Given the description of an element on the screen output the (x, y) to click on. 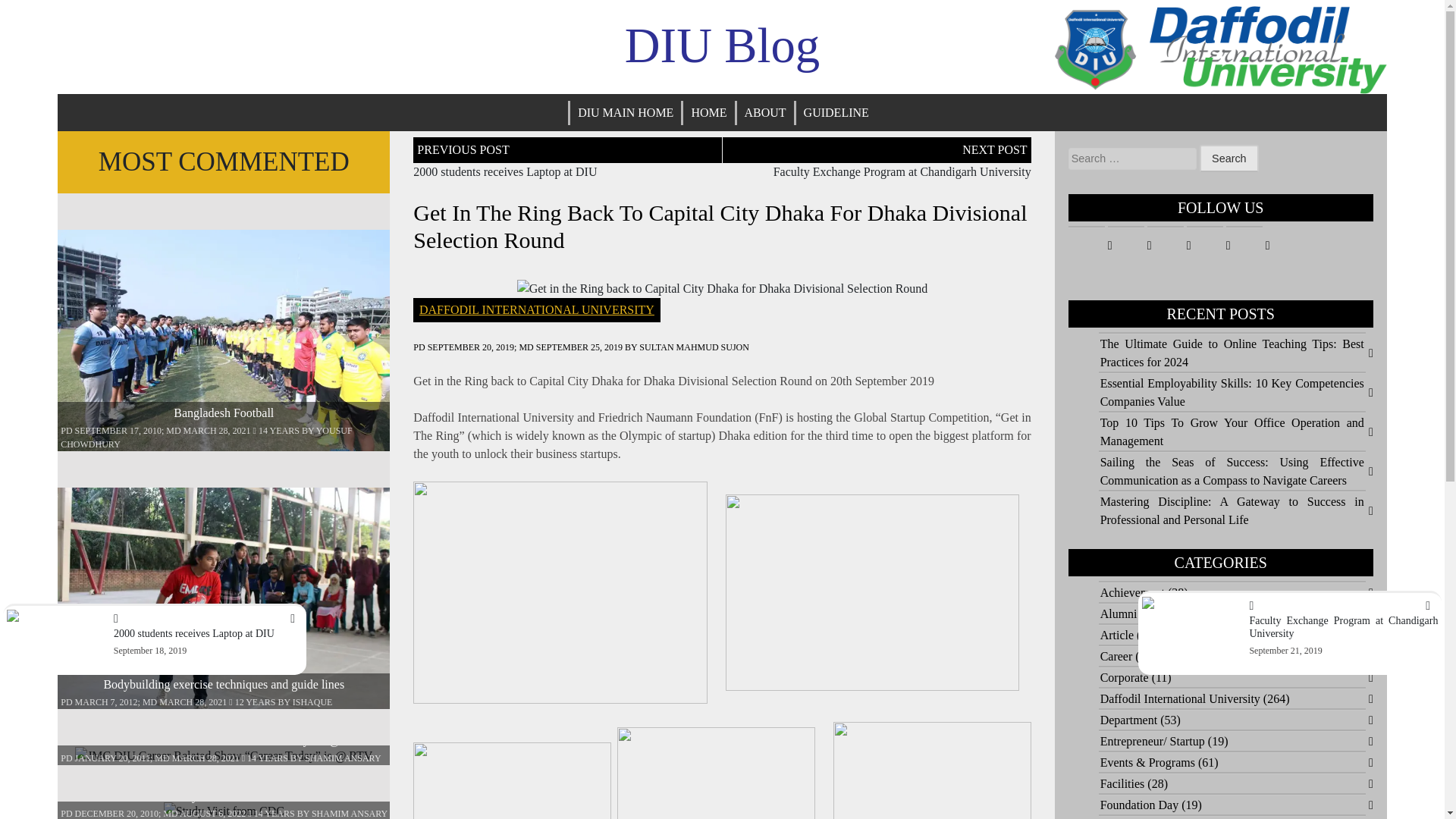
ABOUT (764, 112)
Study Visit from CDC (224, 795)
Bodybuilding exercise techniques and guide lines (223, 684)
Bangladesh Football (223, 412)
SHAMIM ANSARY (342, 757)
JANUARY 20, 2011; MD MARCH 28, 2021 (157, 757)
Search (1229, 157)
14 YEARS (272, 813)
DECEMBER 20, 2010; MD AUGUST 6, 2022 (160, 813)
